Given the description of an element on the screen output the (x, y) to click on. 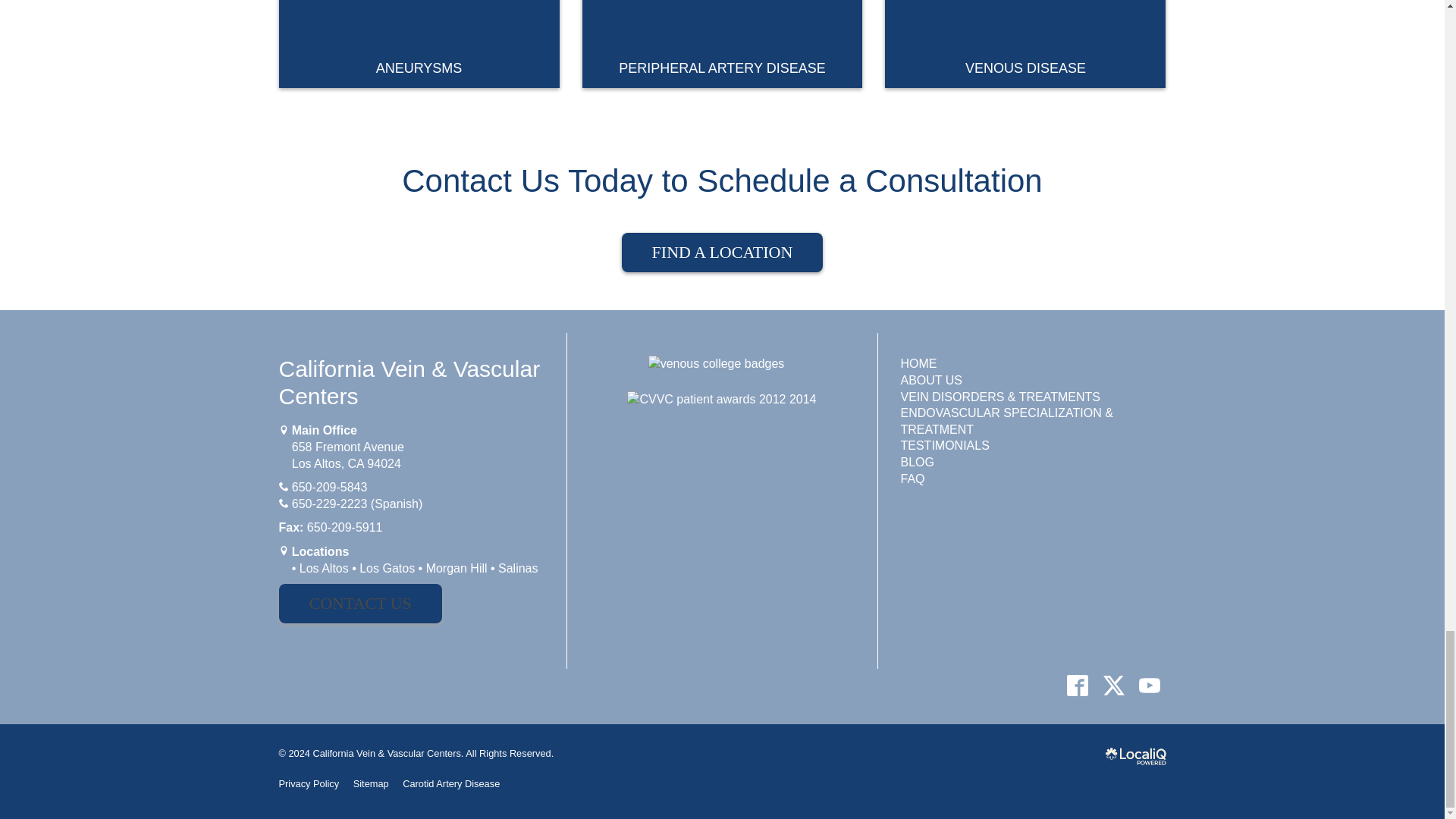
Peripheral Artery Disease (722, 43)
youtube (1149, 685)
Aneurysms (419, 43)
Venous Disease (1025, 43)
facebook (1077, 685)
twitter (1113, 685)
